Given the description of an element on the screen output the (x, y) to click on. 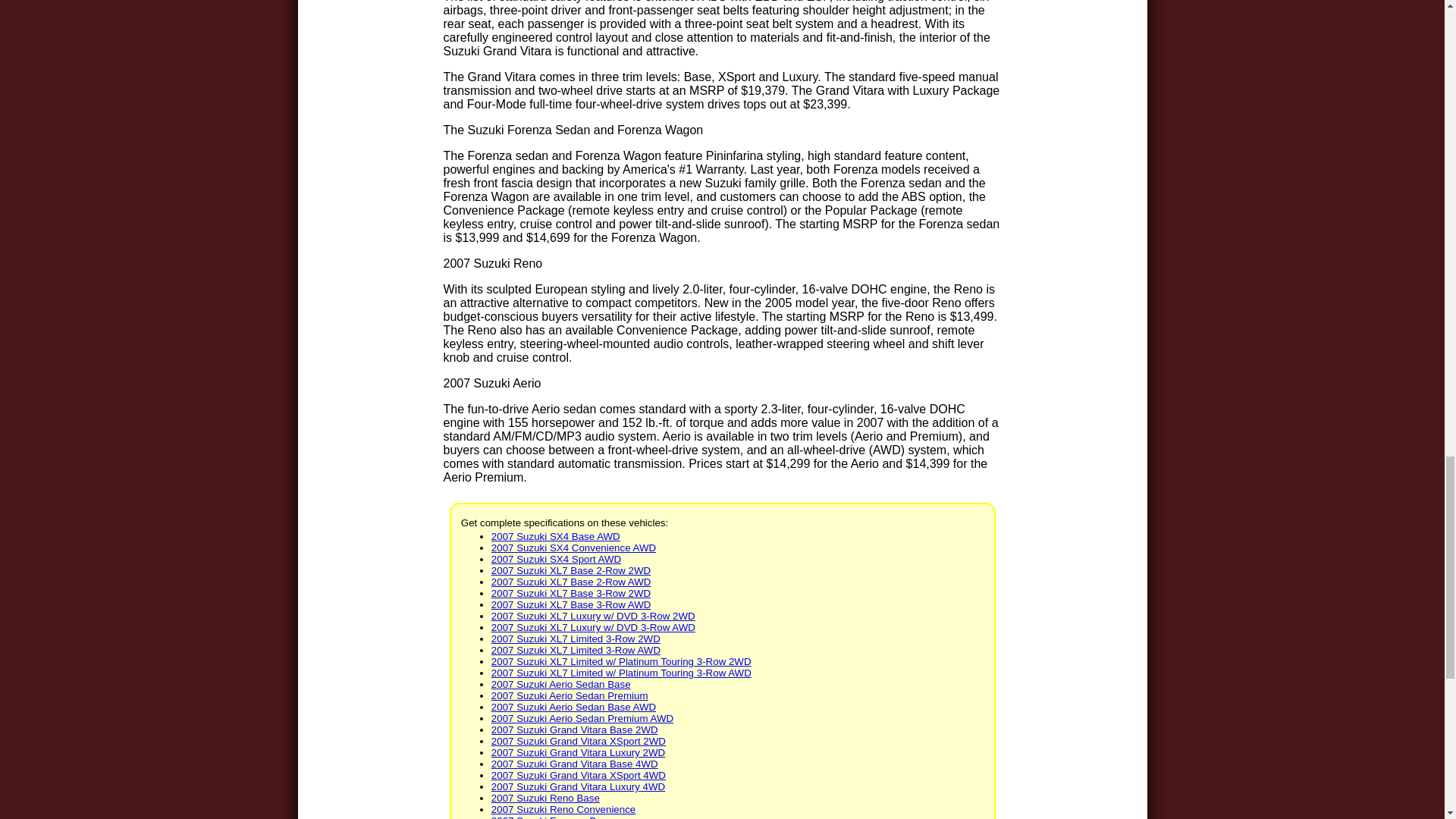
2007 Suzuki SX4 Sport AWD (556, 559)
2007 Suzuki Aerio Sedan Premium AWD (582, 717)
2007 Suzuki SX4 Convenience AWD (574, 547)
2007 Suzuki Grand Vitara Luxury 2WD (578, 752)
2007 Suzuki Aerio Sedan Premium (569, 695)
2007 Suzuki XL7 Limited 3-Row 2WD (576, 638)
2007 Suzuki Grand Vitara XSport 2WD (578, 740)
2007 Suzuki Reno Convenience (563, 808)
2007 Suzuki Aerio Sedan Base AWD (574, 706)
2007 Suzuki XL7 Base 2-Row 2WD (571, 570)
